Given the description of an element on the screen output the (x, y) to click on. 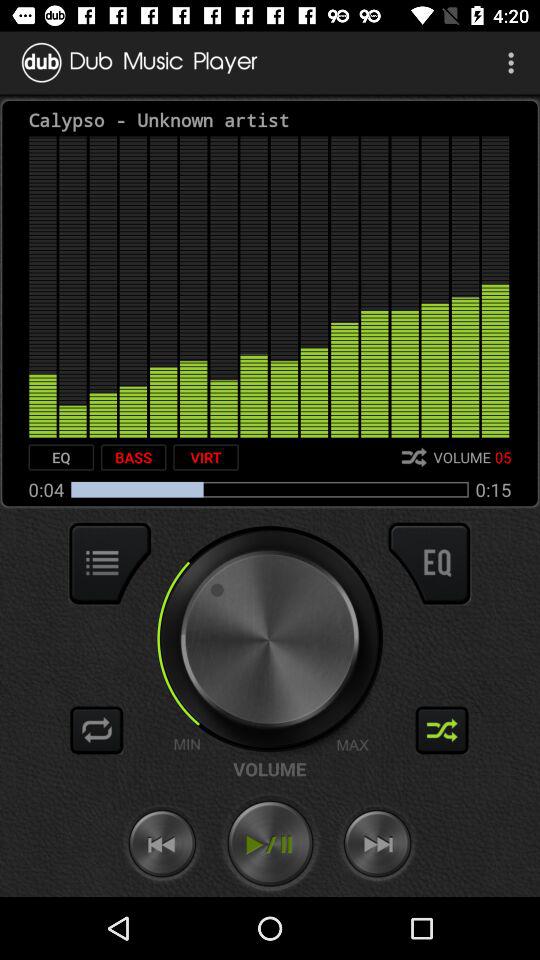
select item next to the  bass  item (61, 457)
